Given the description of an element on the screen output the (x, y) to click on. 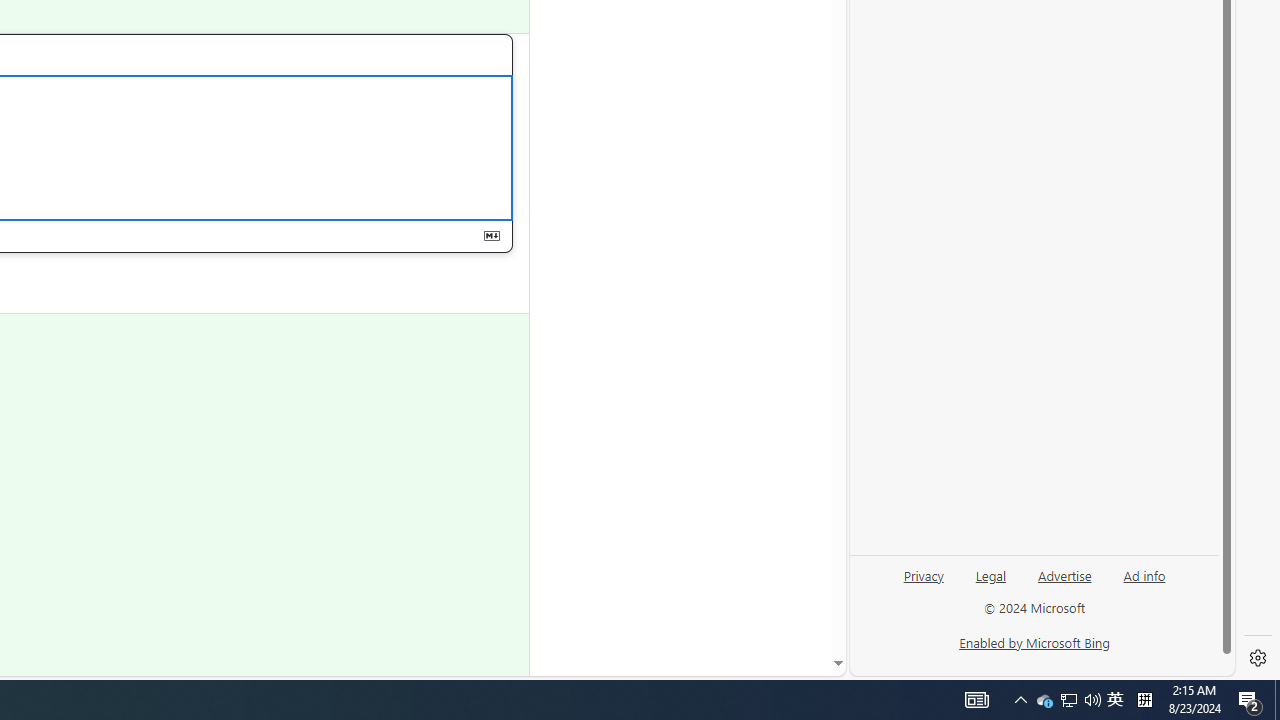
Class: s16 gl-icon gl-button-icon  (491, 236)
